Given the description of an element on the screen output the (x, y) to click on. 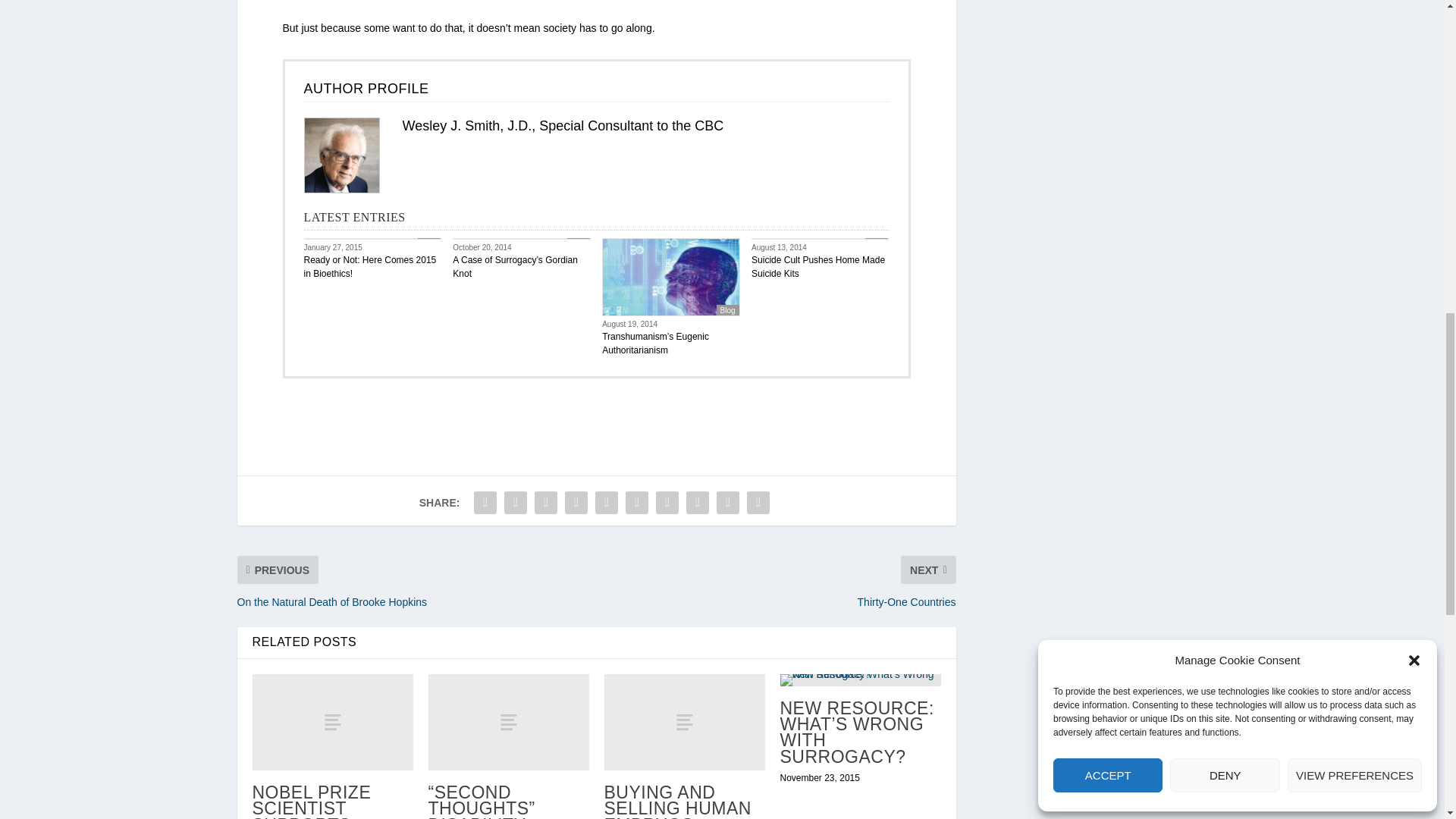
Nobel Prize Scientist Supports Human Cloning (331, 722)
Buying and Selling Human Embryos (684, 722)
